Given the description of an element on the screen output the (x, y) to click on. 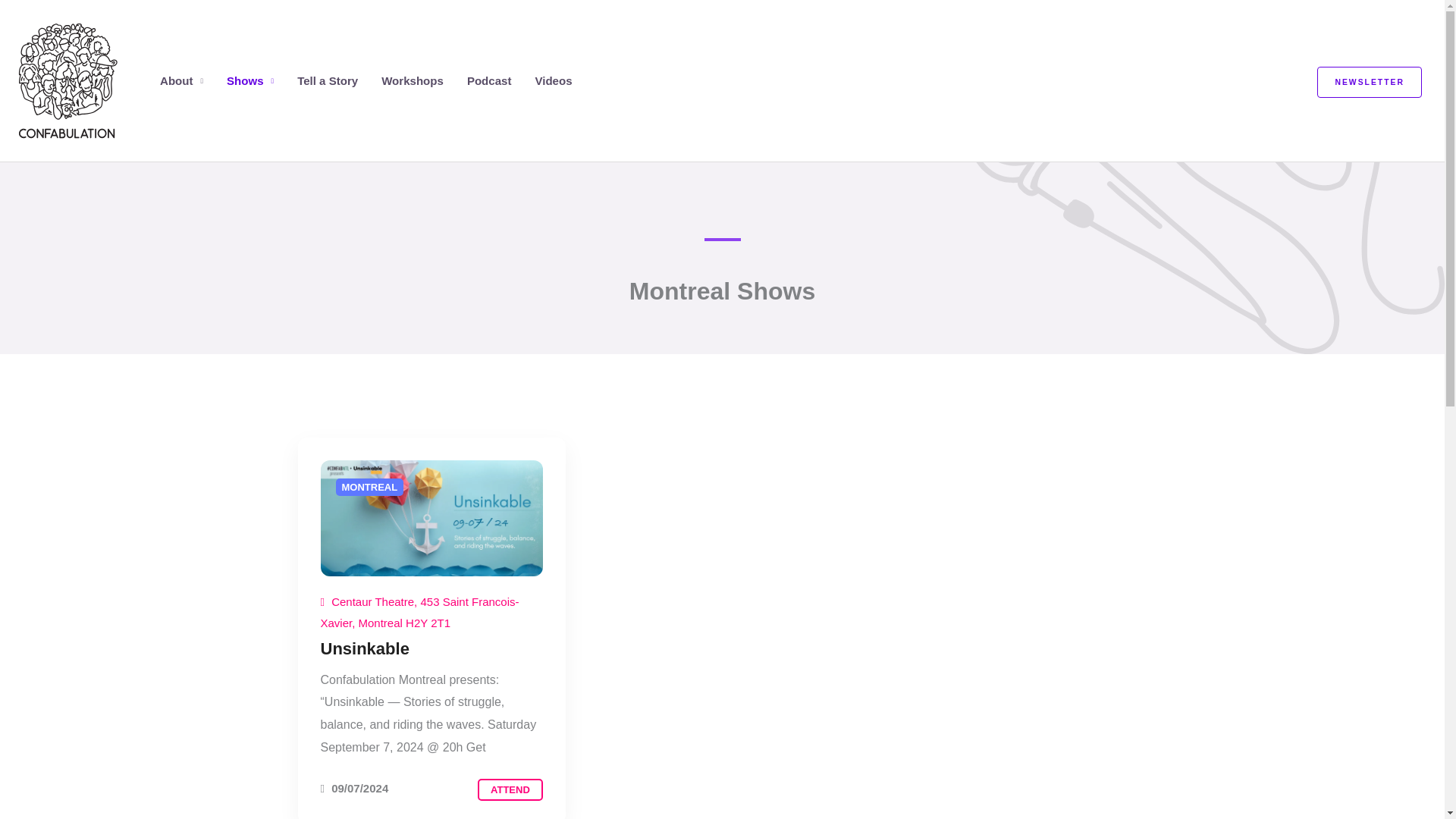
ATTEND (510, 789)
NEWSLETTER (1369, 81)
Podcast (489, 79)
Tell a Story (327, 79)
Unsinkable (364, 648)
Shows (250, 79)
Workshops (412, 79)
Unsinkable (510, 789)
